Given the description of an element on the screen output the (x, y) to click on. 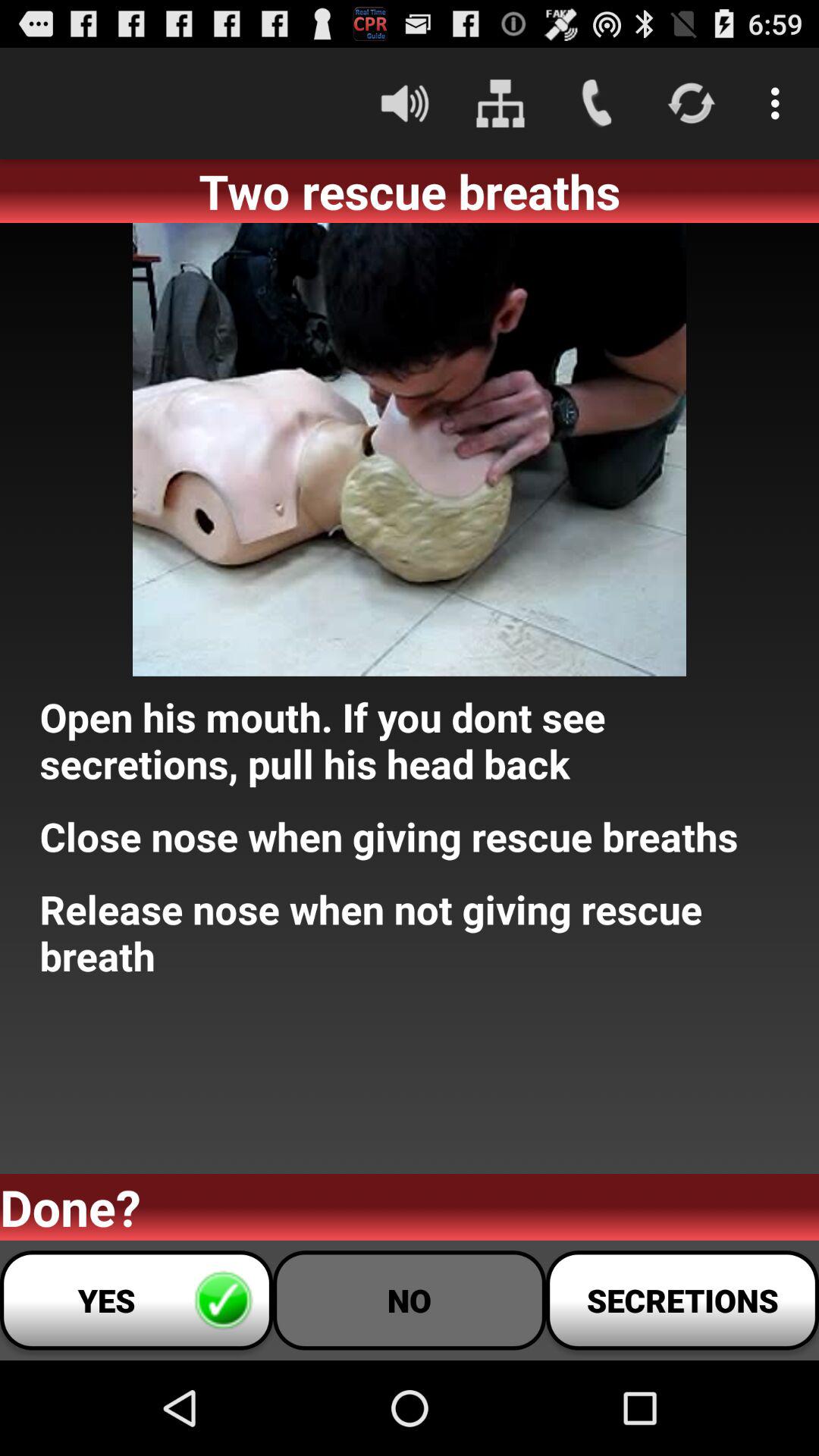
choose the icon above two rescue breaths (779, 103)
